Given the description of an element on the screen output the (x, y) to click on. 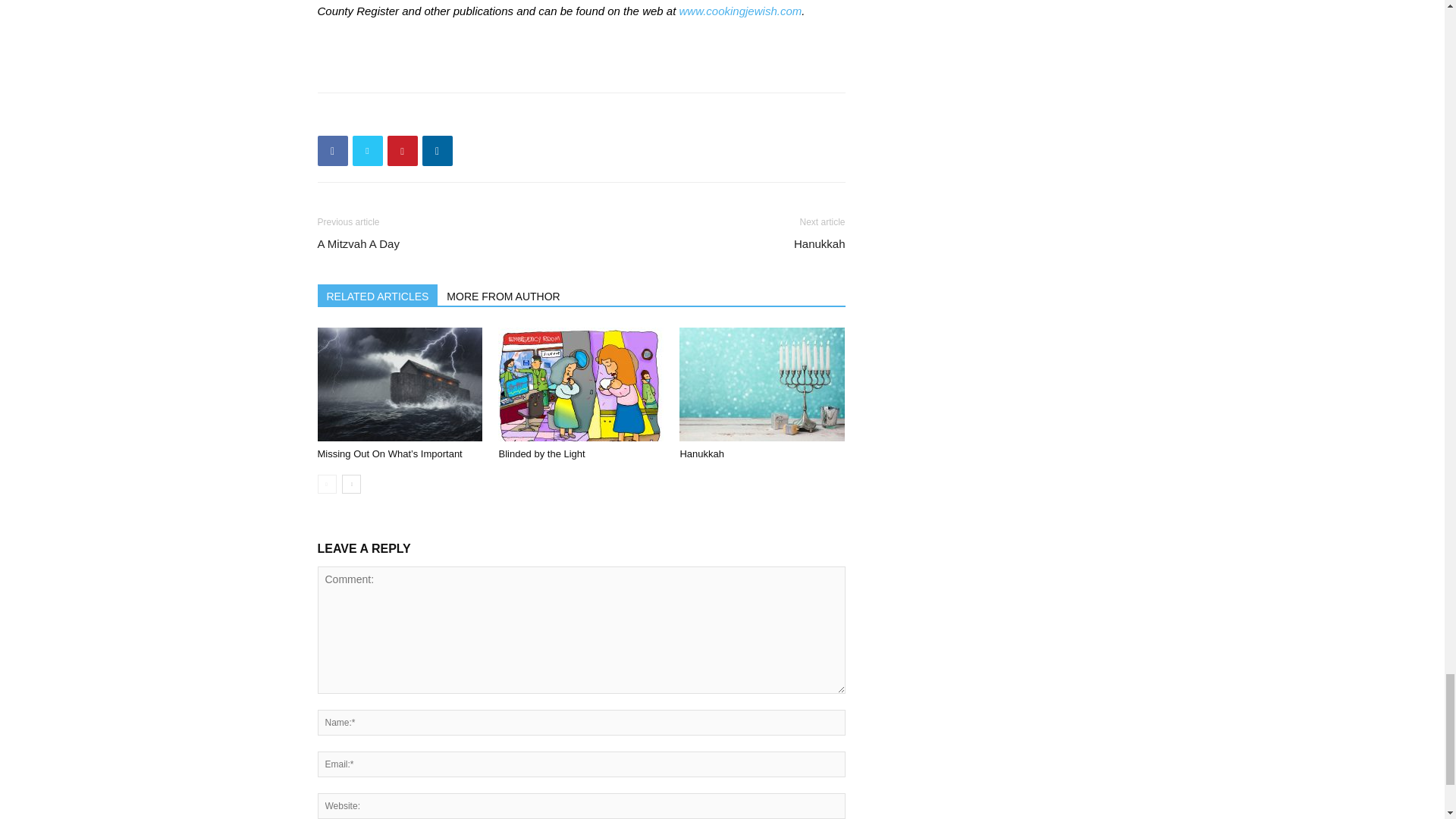
Hanukkah (761, 384)
Blinded by the Light (580, 384)
www.cookingjewish.com (740, 10)
Hanukkah (819, 243)
Blinded by the Light (541, 453)
Hanukkah (701, 453)
A Mitzvah A Day (357, 243)
